Given the description of an element on the screen output the (x, y) to click on. 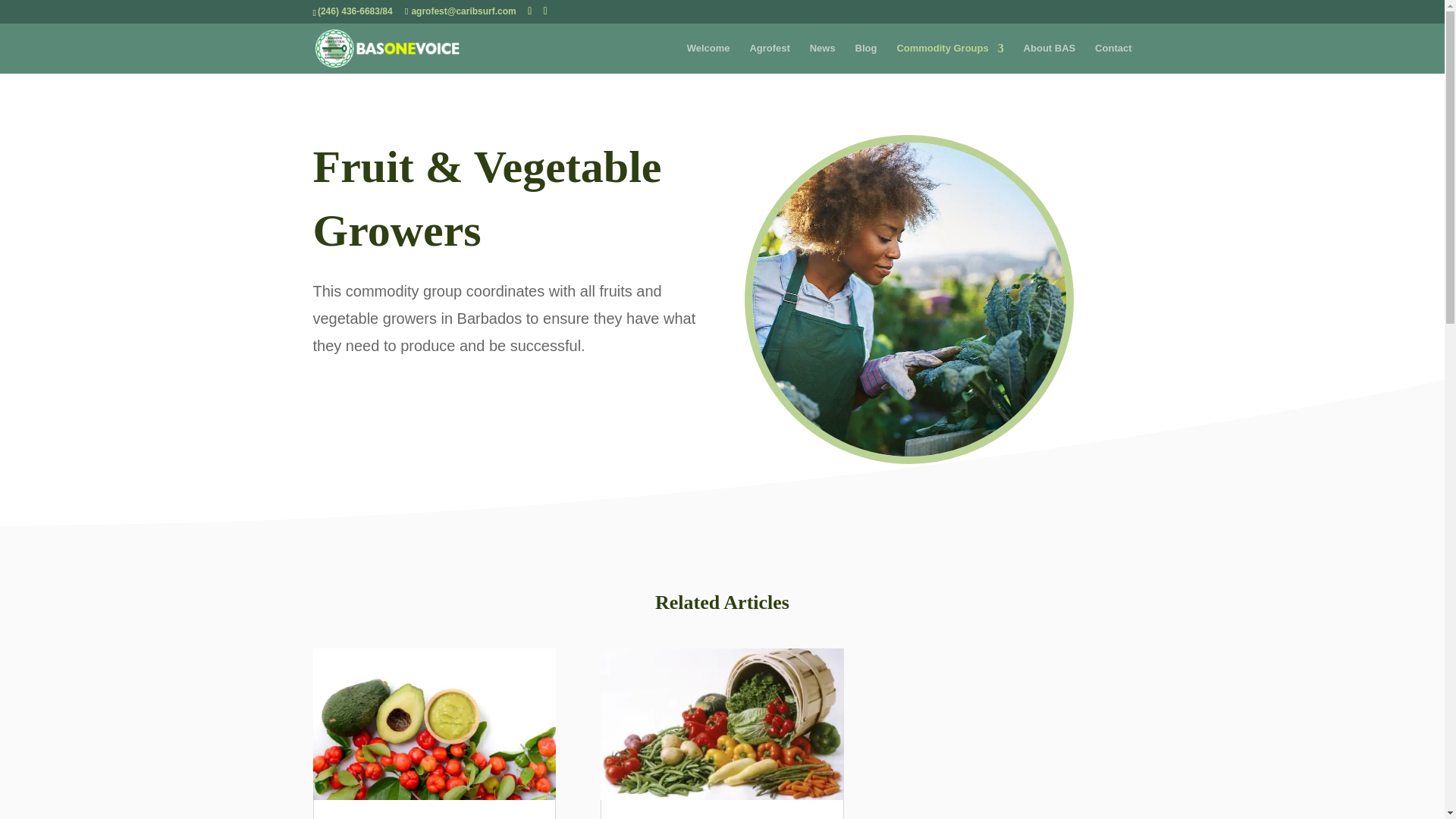
Agrofest (769, 58)
Welcome (708, 58)
veg (908, 299)
Commodity Groups (949, 58)
About BAS (1049, 58)
Contact (1112, 58)
